Given the description of an element on the screen output the (x, y) to click on. 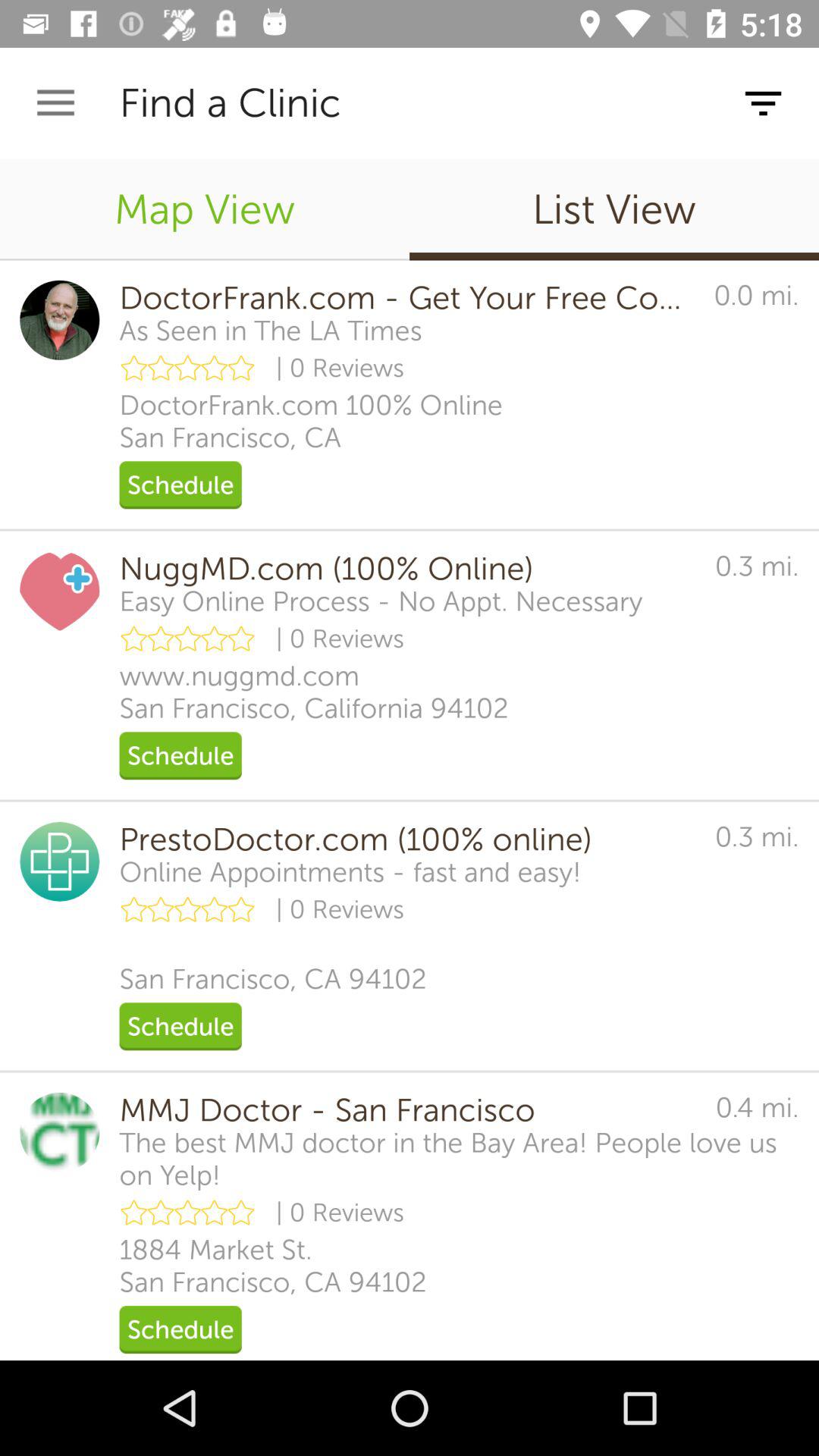
select the item to the right of the map view icon (614, 209)
